Given the description of an element on the screen output the (x, y) to click on. 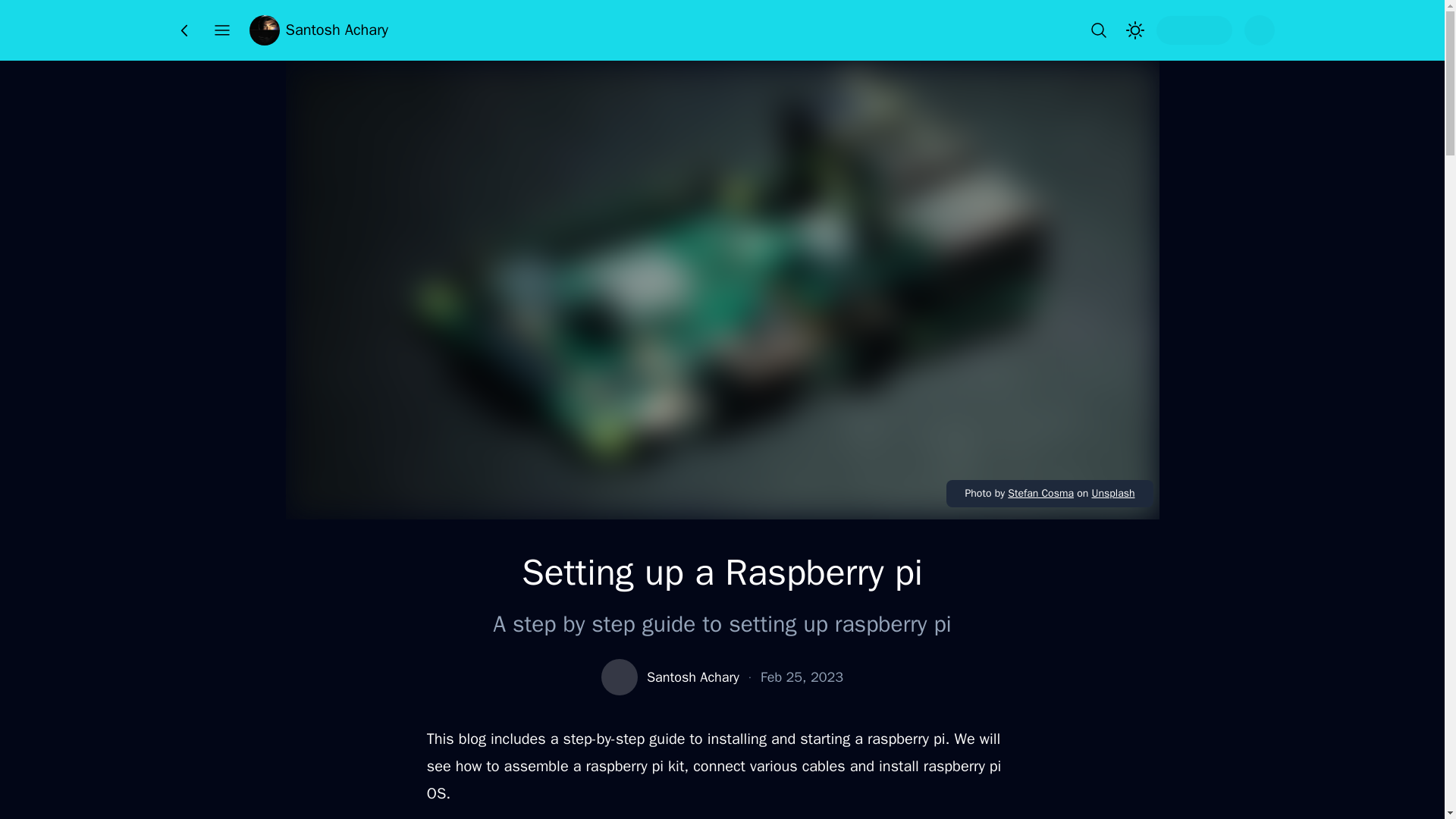
Santosh Achary (317, 30)
Unsplash (1112, 492)
Feb 25, 2023 (801, 676)
Stefan Cosma (1040, 492)
Santosh Achary (692, 676)
